Given the description of an element on the screen output the (x, y) to click on. 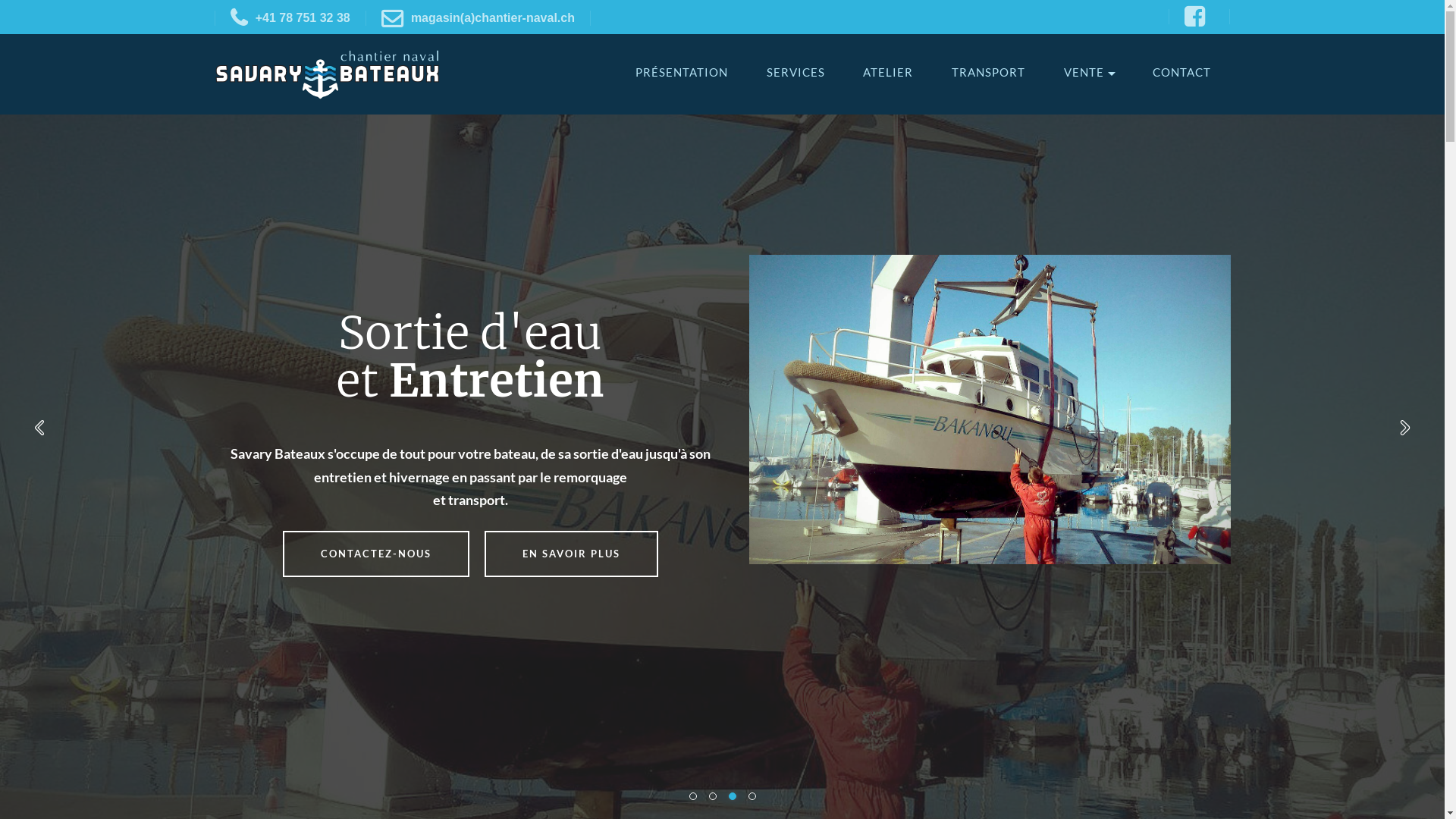
Savary Bateaux Element type: hover (327, 74)
+41 78 751 32 38 Element type: text (288, 17)
TRANSPORT Element type: text (988, 72)
SERVICES Element type: text (795, 72)
VENTE Element type: text (1083, 72)
ATELIER Element type: text (887, 72)
CONTACT Element type: text (1181, 72)
magasin(a)chantier-naval.ch Element type: text (477, 17)
Youtube Element type: hover (1199, 16)
